Given the description of an element on the screen output the (x, y) to click on. 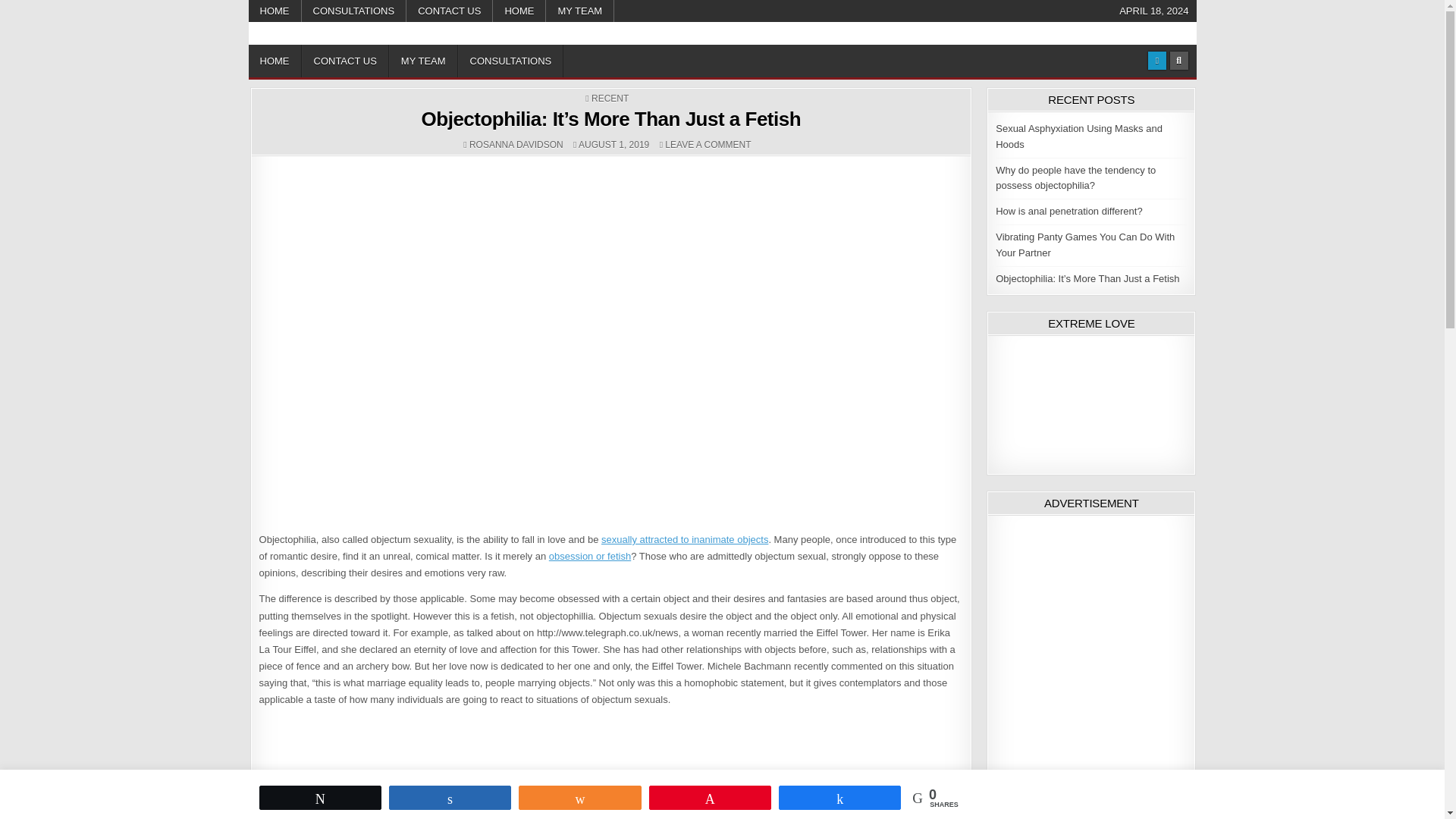
MY TEAM (423, 60)
CONSULTATIONS (354, 11)
The Embellishers (331, 41)
CONTACT US (344, 60)
CONSULTATIONS (511, 60)
Why do people have the tendency to possess objectophilia? (1075, 177)
CONTACT US (449, 11)
obsession or fetish (589, 555)
sexually attracted to inanimate objects (684, 539)
ROSANNA DAVIDSON (515, 144)
MY TEAM (580, 11)
How is anal penetration different? (1068, 211)
Sexual Asphyxiation Using Masks and Hoods (1078, 135)
RECENT (609, 98)
HOME (274, 60)
